Given the description of an element on the screen output the (x, y) to click on. 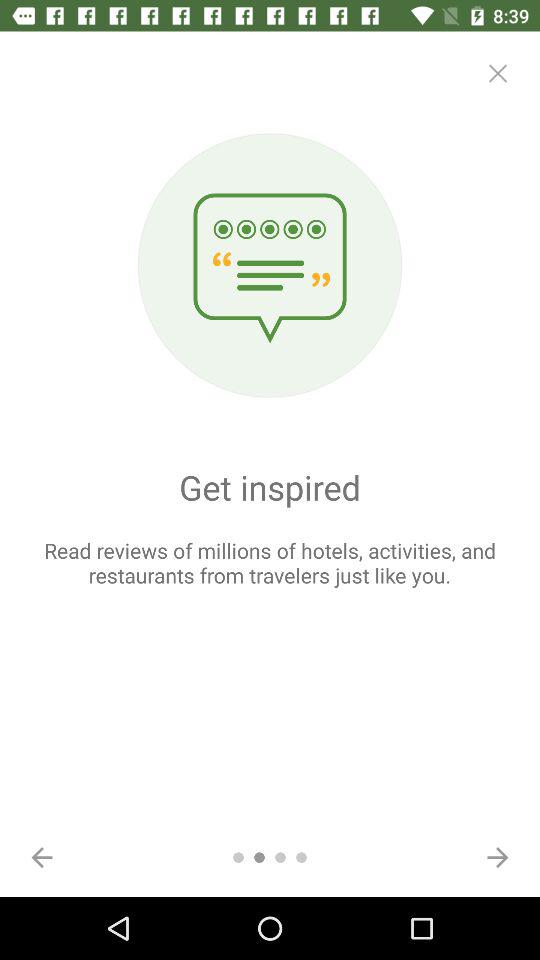
open the icon below the read reviews of (498, 857)
